Given the description of an element on the screen output the (x, y) to click on. 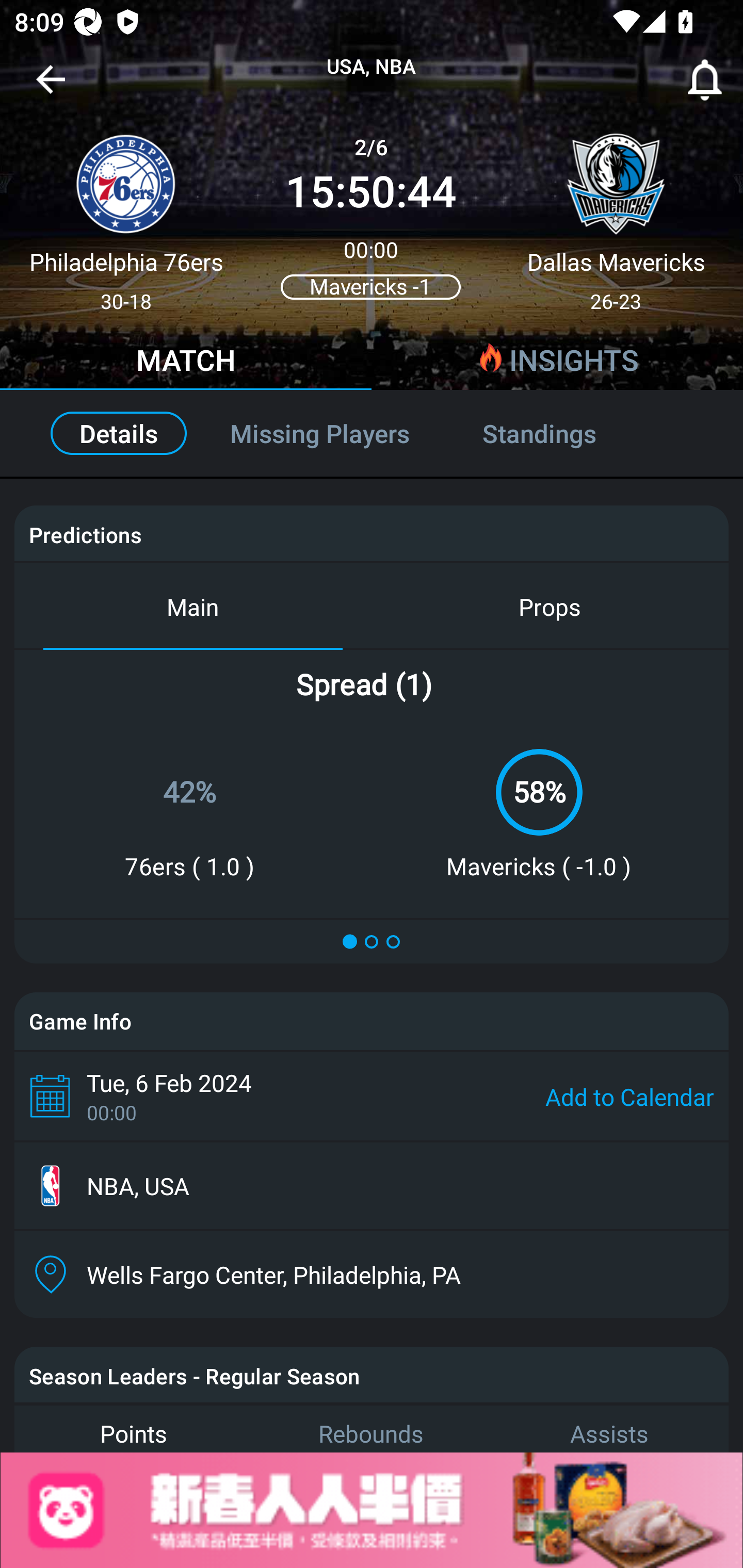
Navigate up (50, 86)
USA, NBA (371, 66)
Philadelphia 76ers 30-18 (126, 214)
Dallas Mavericks 26-23 (616, 214)
MATCH (185, 362)
INSIGHTS (557, 362)
Missing Players (319, 433)
Standings (561, 433)
Predictions (85, 534)
Props (549, 605)
Game Info (371, 1021)
Tue, 6 Feb 2024 00:00 Add to Calendar (371, 1095)
NBA, USA (371, 1186)
Wells Fargo Center, Philadelphia, PA (371, 1273)
Rebounds (371, 1427)
Assists (609, 1427)
Advertisement (371, 1509)
